Given the description of an element on the screen output the (x, y) to click on. 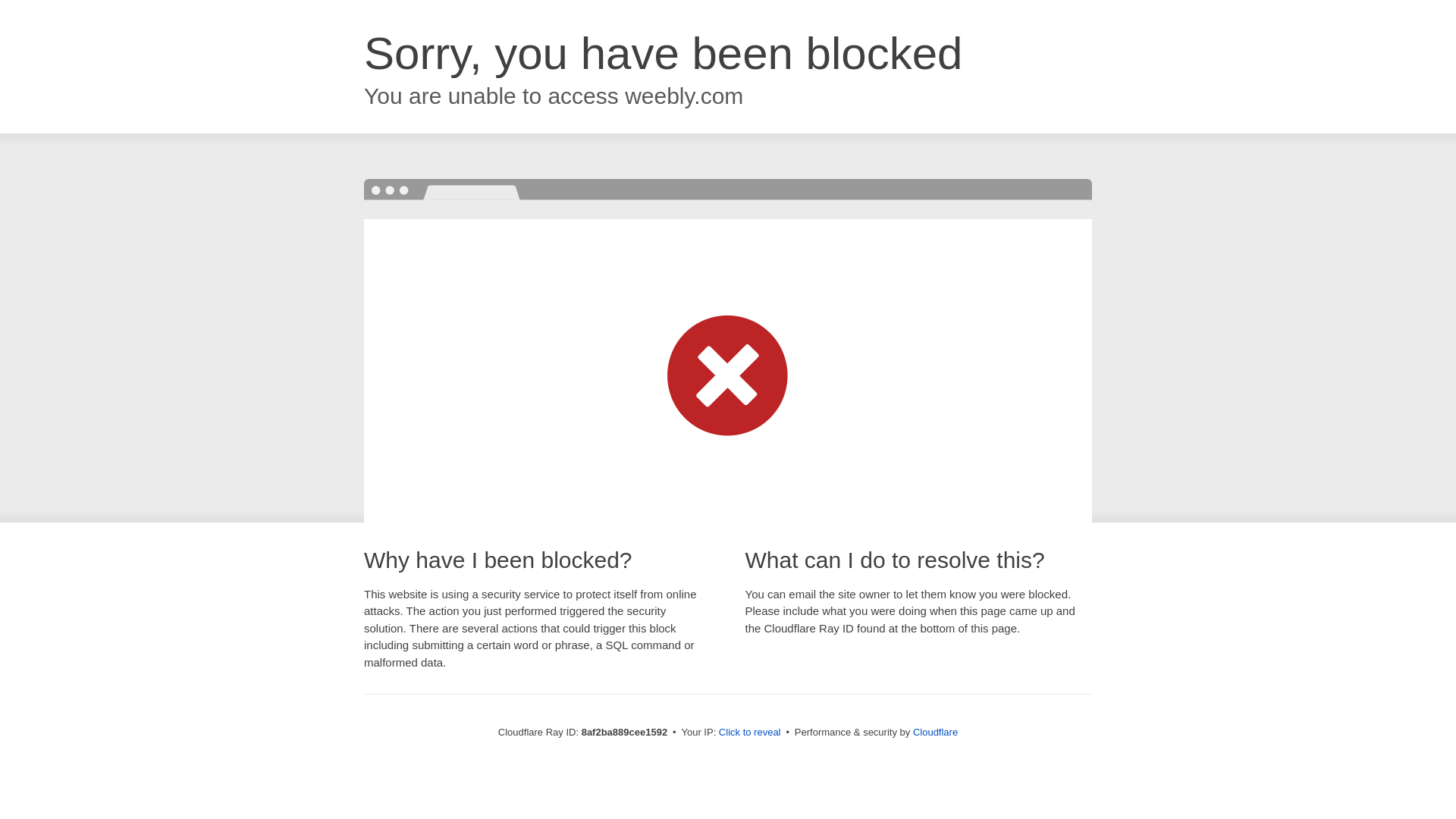
Click to reveal (749, 732)
Cloudflare (935, 731)
